Given the description of an element on the screen output the (x, y) to click on. 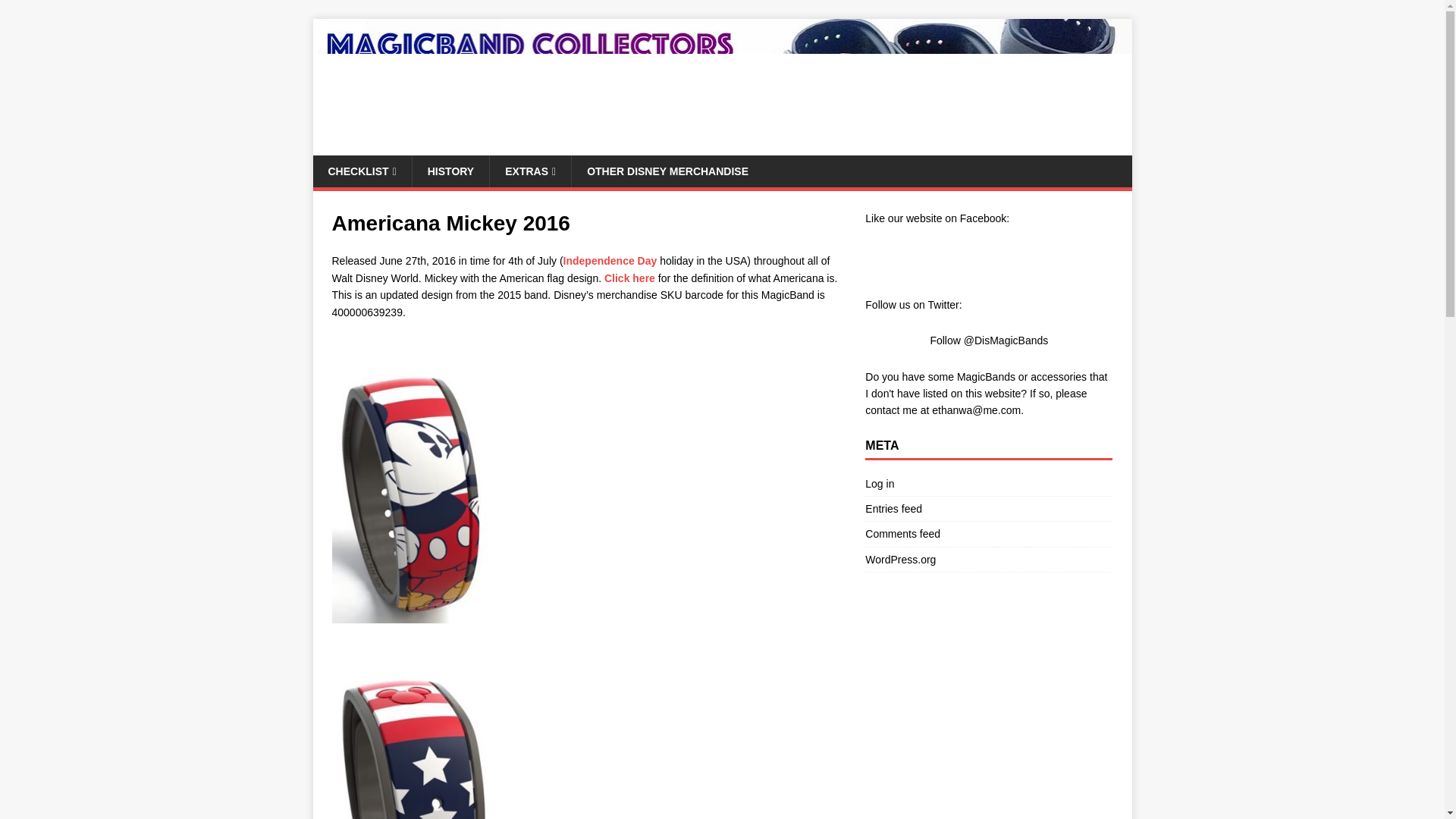
HISTORY (450, 171)
EXTRAS (529, 171)
Independence Day (610, 260)
Log in (988, 485)
Entries feed (988, 508)
CHECKLIST (361, 171)
OTHER DISNEY MERCHANDISE (666, 171)
Click here (629, 277)
